Given the description of an element on the screen output the (x, y) to click on. 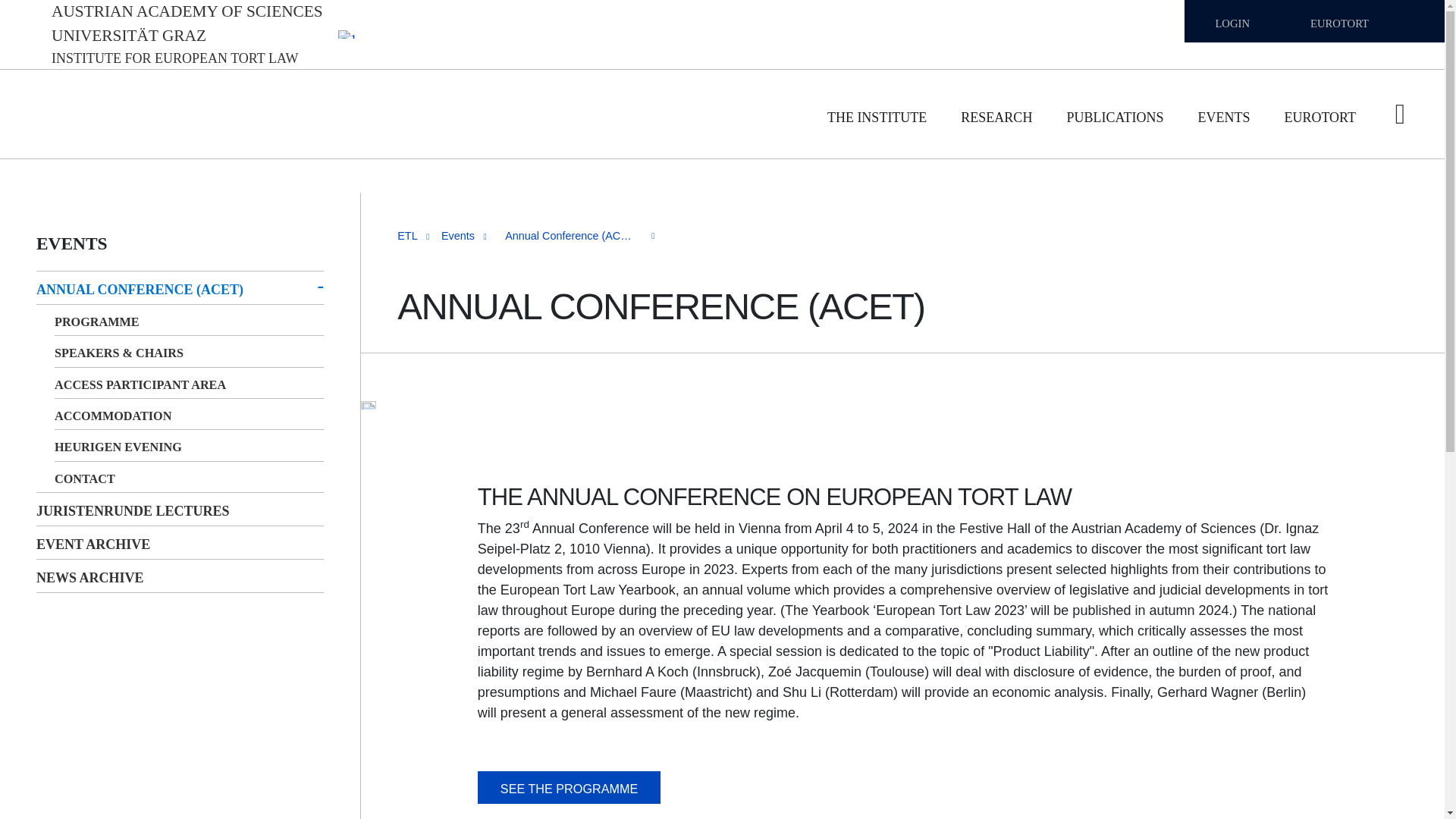
LOGIN (1231, 23)
EUROTORT (1339, 23)
ETL (406, 235)
Events (457, 235)
Sie befinden sich auf dieser Seite (569, 235)
PUBLICATIONS (1114, 113)
zur Seite: Juristenrunde Lectures (569, 260)
THE INSTITUTE (876, 113)
